Given the description of an element on the screen output the (x, y) to click on. 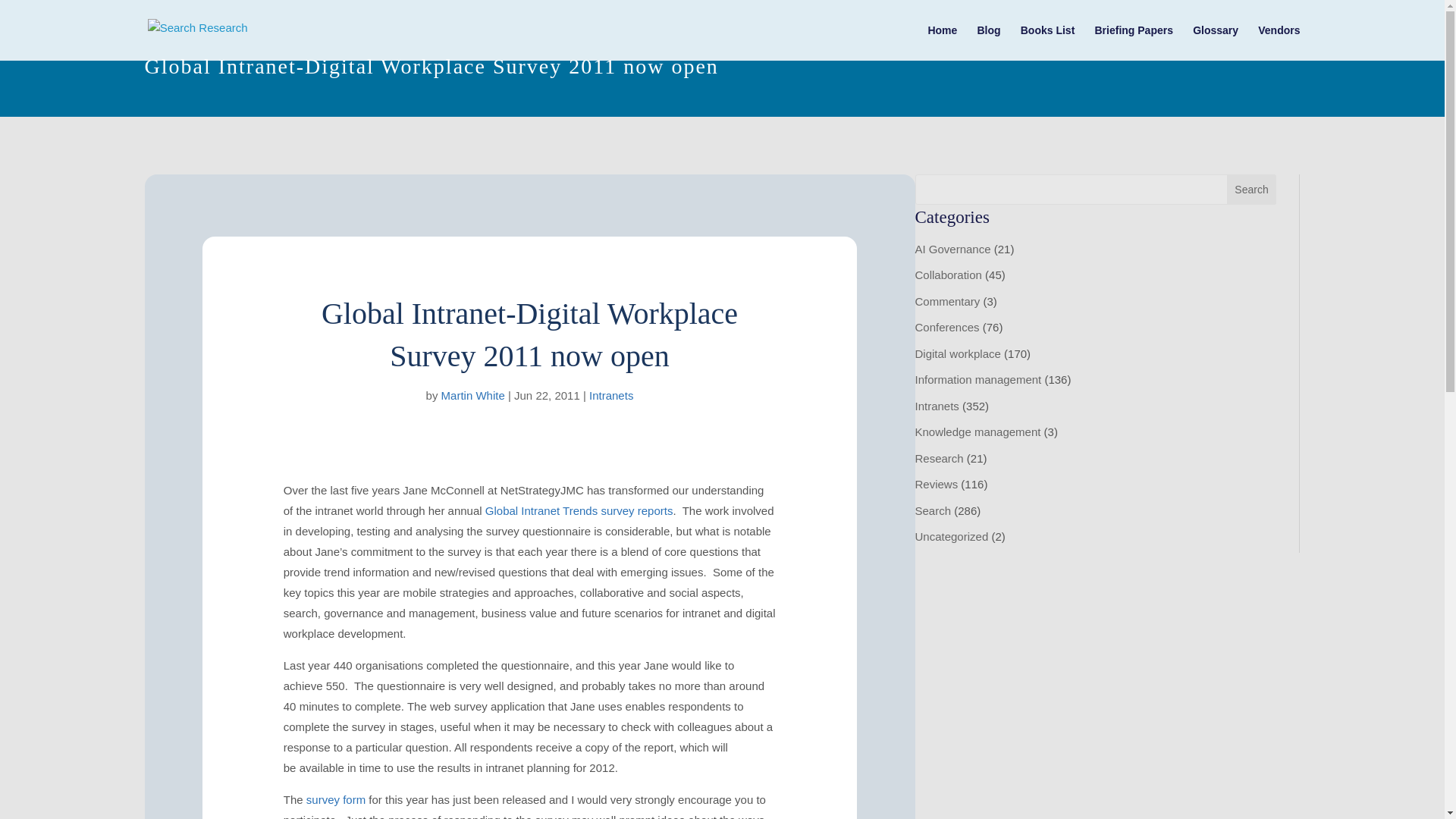
Global Intranet Trends survey reports (578, 510)
survey form (335, 799)
Home (941, 42)
Martin White (473, 395)
Research (938, 458)
Intranets (611, 395)
Glossary (1215, 42)
Intranets (936, 405)
Books List (1047, 42)
AI Governance (952, 248)
Posts by Martin White (473, 395)
Digital workplace (957, 353)
Search (1251, 189)
Briefing Papers (1133, 42)
Conferences (946, 327)
